Given the description of an element on the screen output the (x, y) to click on. 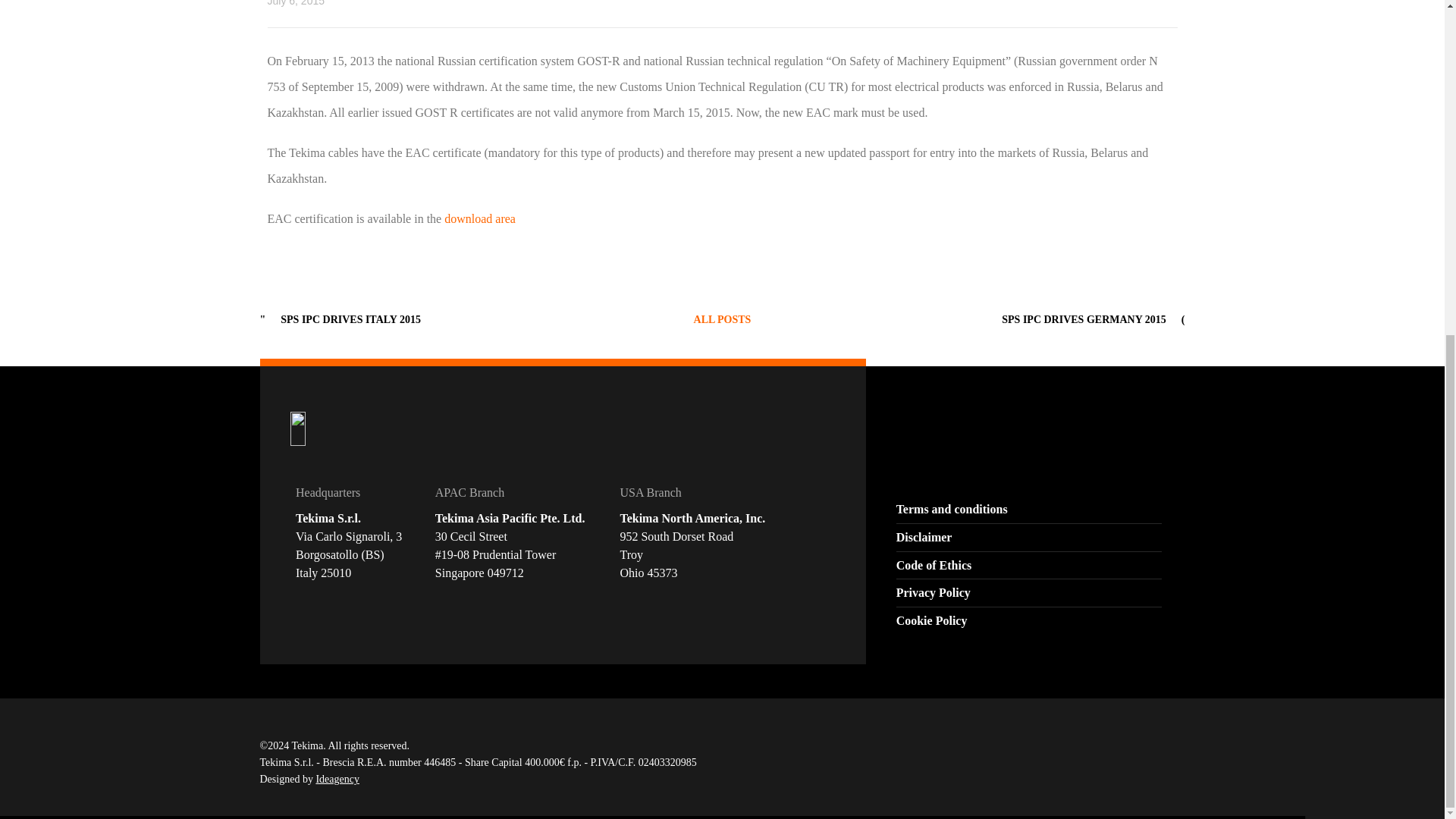
SPS IPC Drives Italy 2015 (350, 319)
SPS IPC Drives Germany 2015 (1083, 319)
News (722, 319)
